Given the description of an element on the screen output the (x, y) to click on. 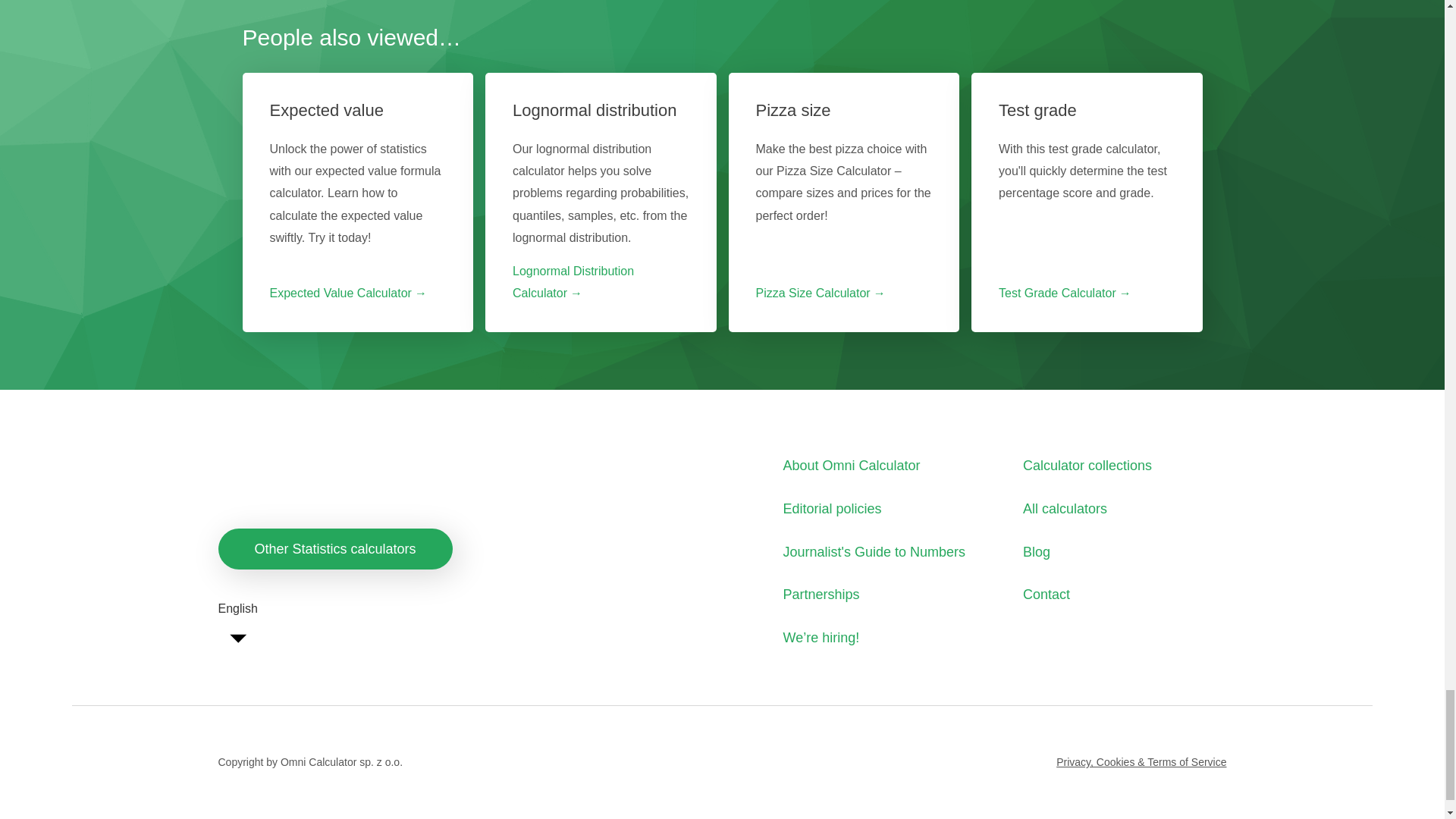
Other Statistics calculators (335, 548)
